Given the description of an element on the screen output the (x, y) to click on. 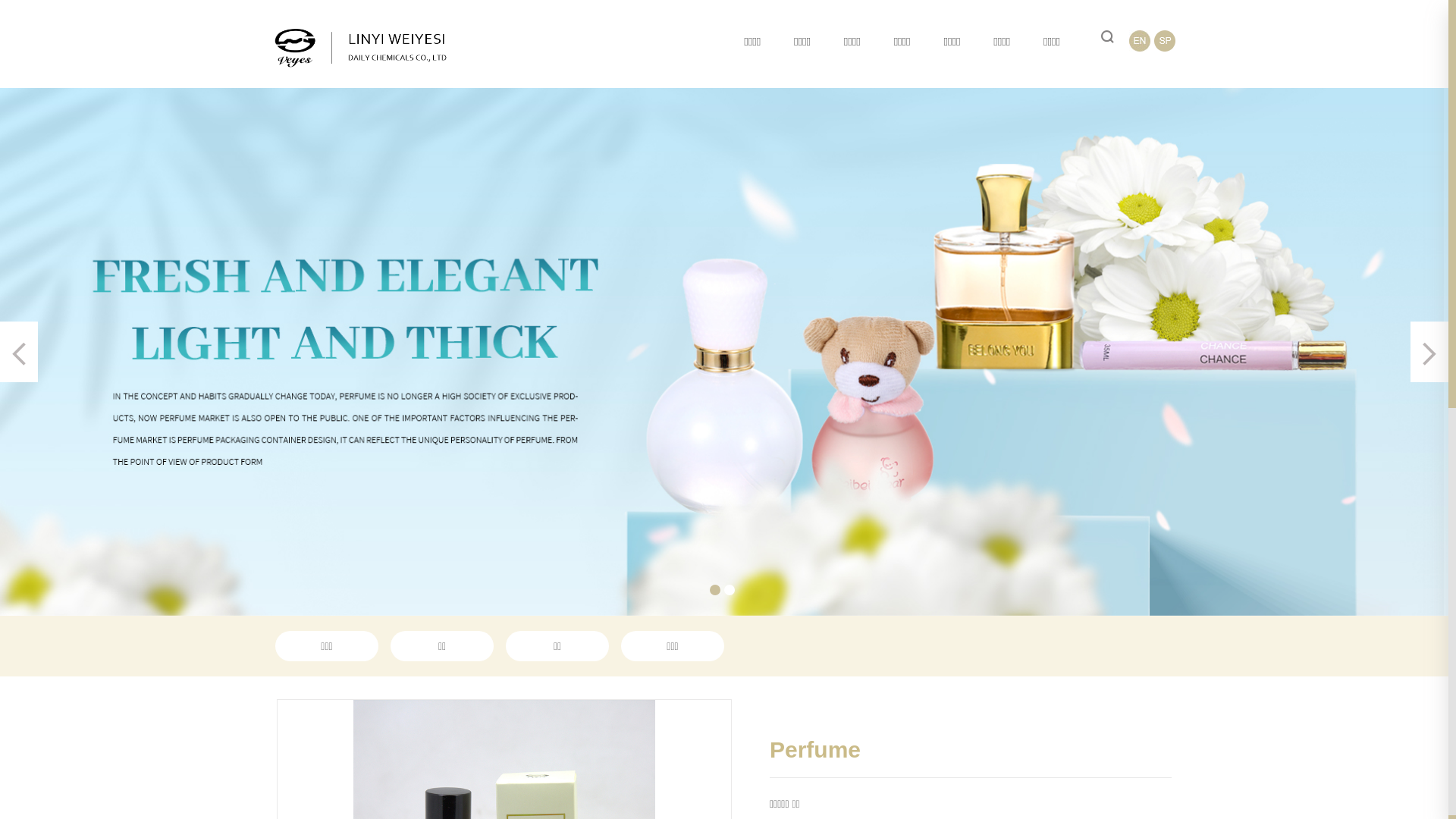
logo Element type: hover (360, 47)
EN Element type: hover (1139, 40)
SP Element type: hover (1164, 40)
